Given the description of an element on the screen output the (x, y) to click on. 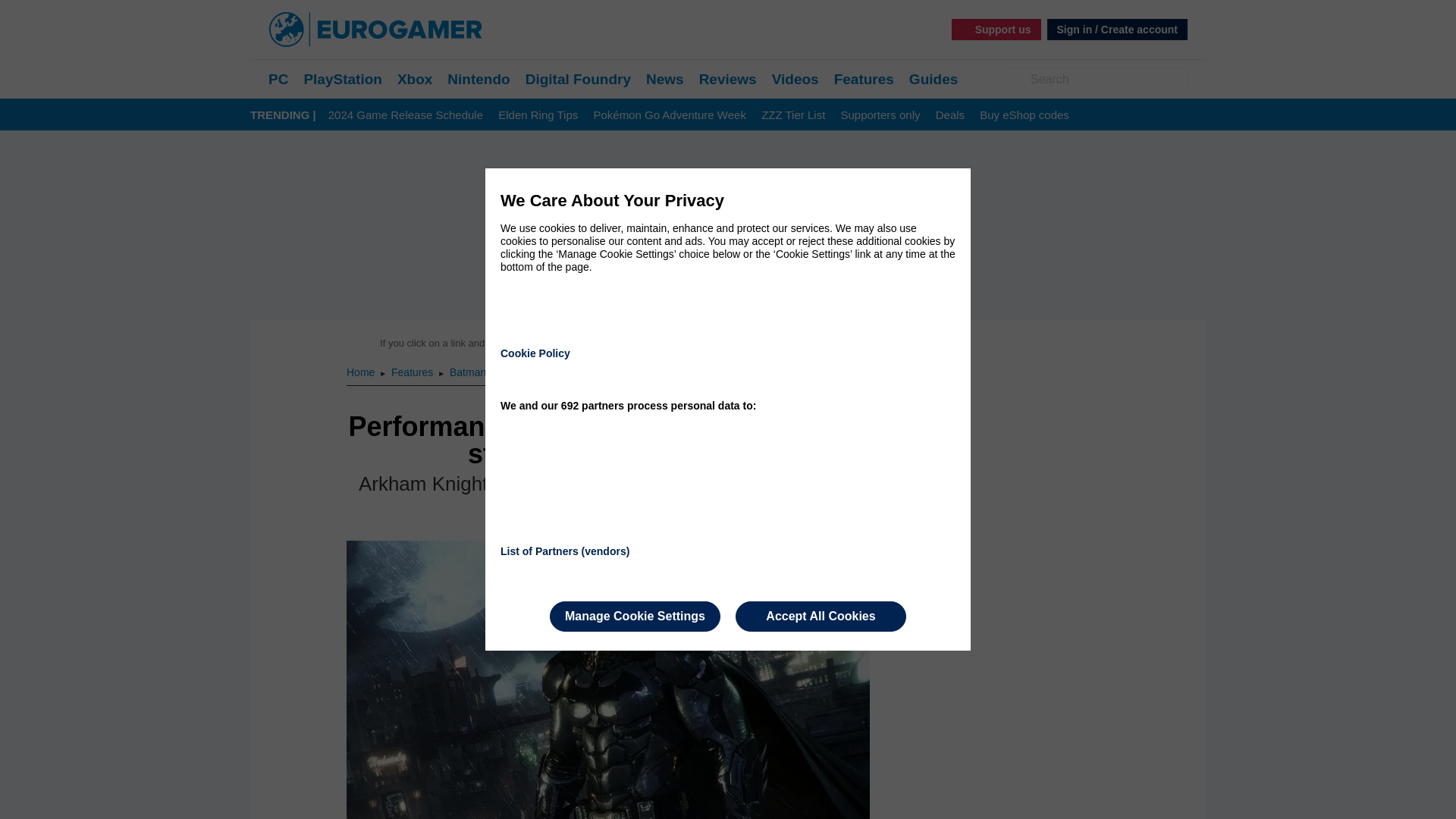
Elden Ring Tips (537, 114)
Videos (794, 78)
Nintendo (477, 78)
2024 Game Release Schedule (406, 114)
Supporters only (880, 114)
Xbox (414, 78)
Supporters only (880, 114)
ZZZ Tier List (793, 114)
Guides (933, 78)
Videos (794, 78)
